Given the description of an element on the screen output the (x, y) to click on. 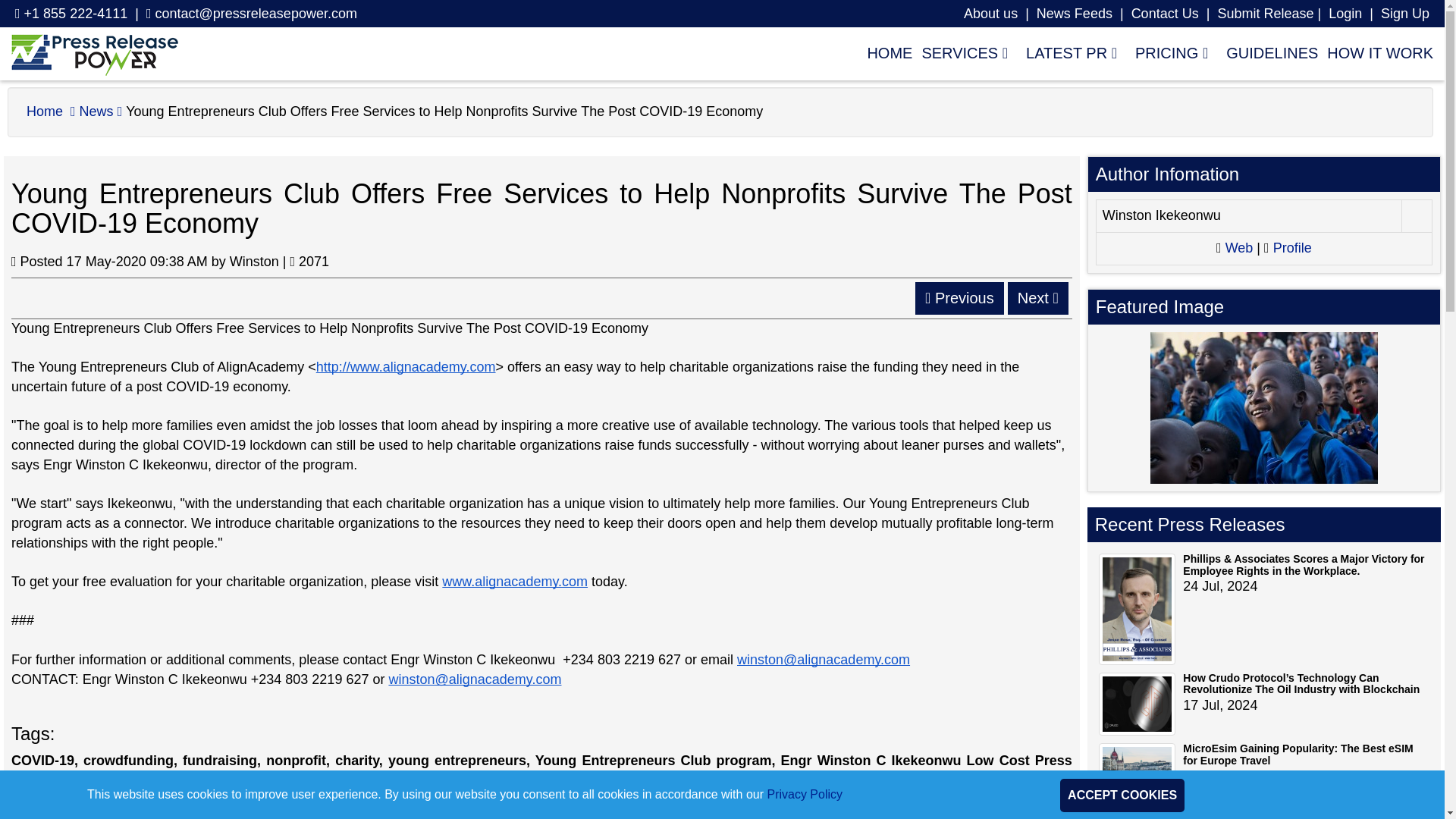
Sign Up (1404, 13)
Press Release Distribution Free (94, 53)
News Feeds (1074, 13)
Contact Us (1164, 13)
LATEST PR (1070, 52)
Login (1404, 13)
Submit Release (1265, 13)
SERVICES (964, 52)
About us (990, 13)
HOW IT WORK (1374, 52)
Login (1344, 13)
GUIDELINES (1267, 52)
PRICING (1171, 52)
HOME (884, 52)
Login (1344, 13)
